Given the description of an element on the screen output the (x, y) to click on. 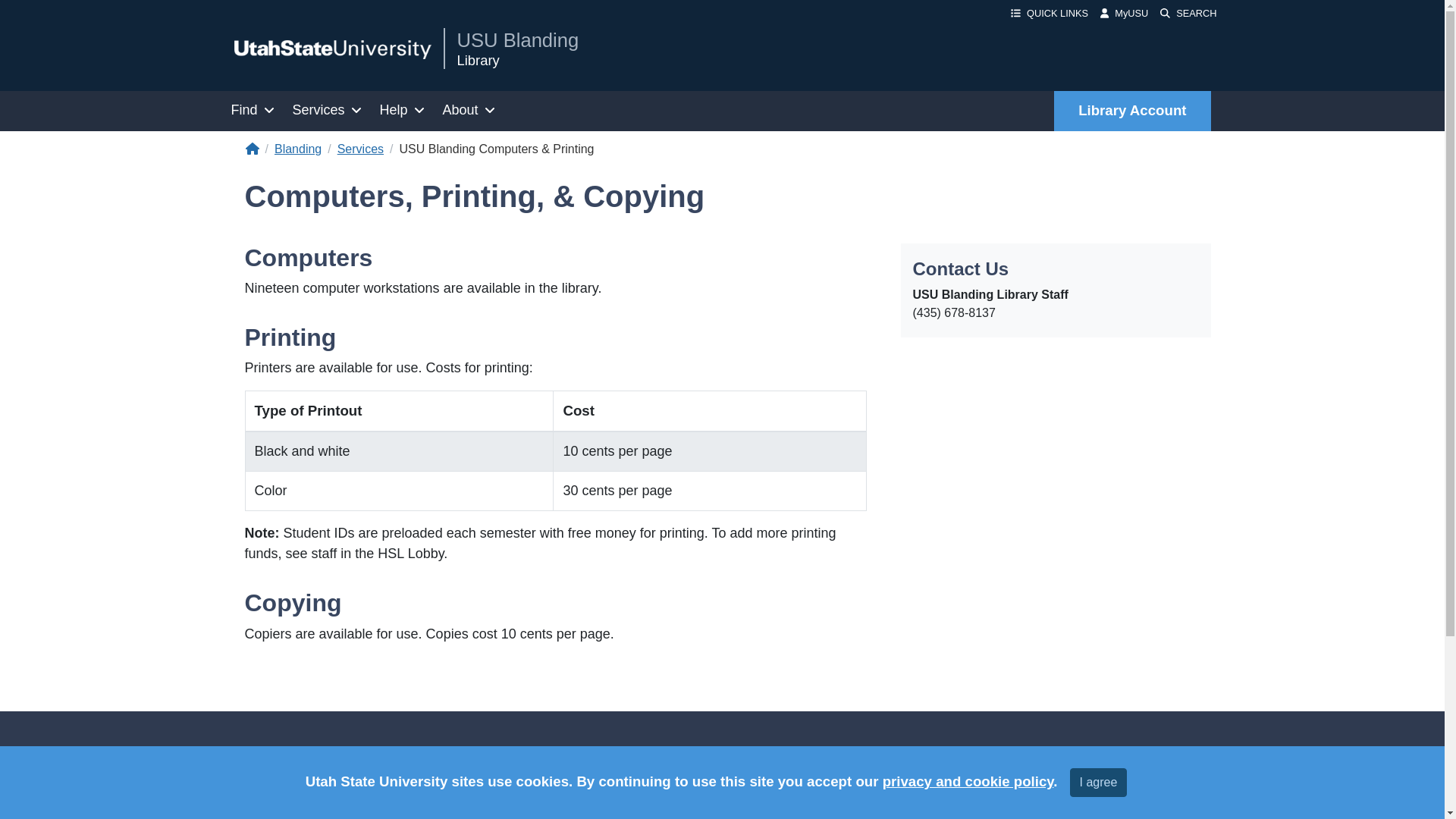
Find (251, 110)
QUICK LINKS (1049, 13)
I agree (1097, 782)
privacy and cookie policy (968, 781)
MyUSU (1124, 13)
SEARCH (1188, 13)
Library (517, 60)
USU Blanding (517, 39)
